Given the description of an element on the screen output the (x, y) to click on. 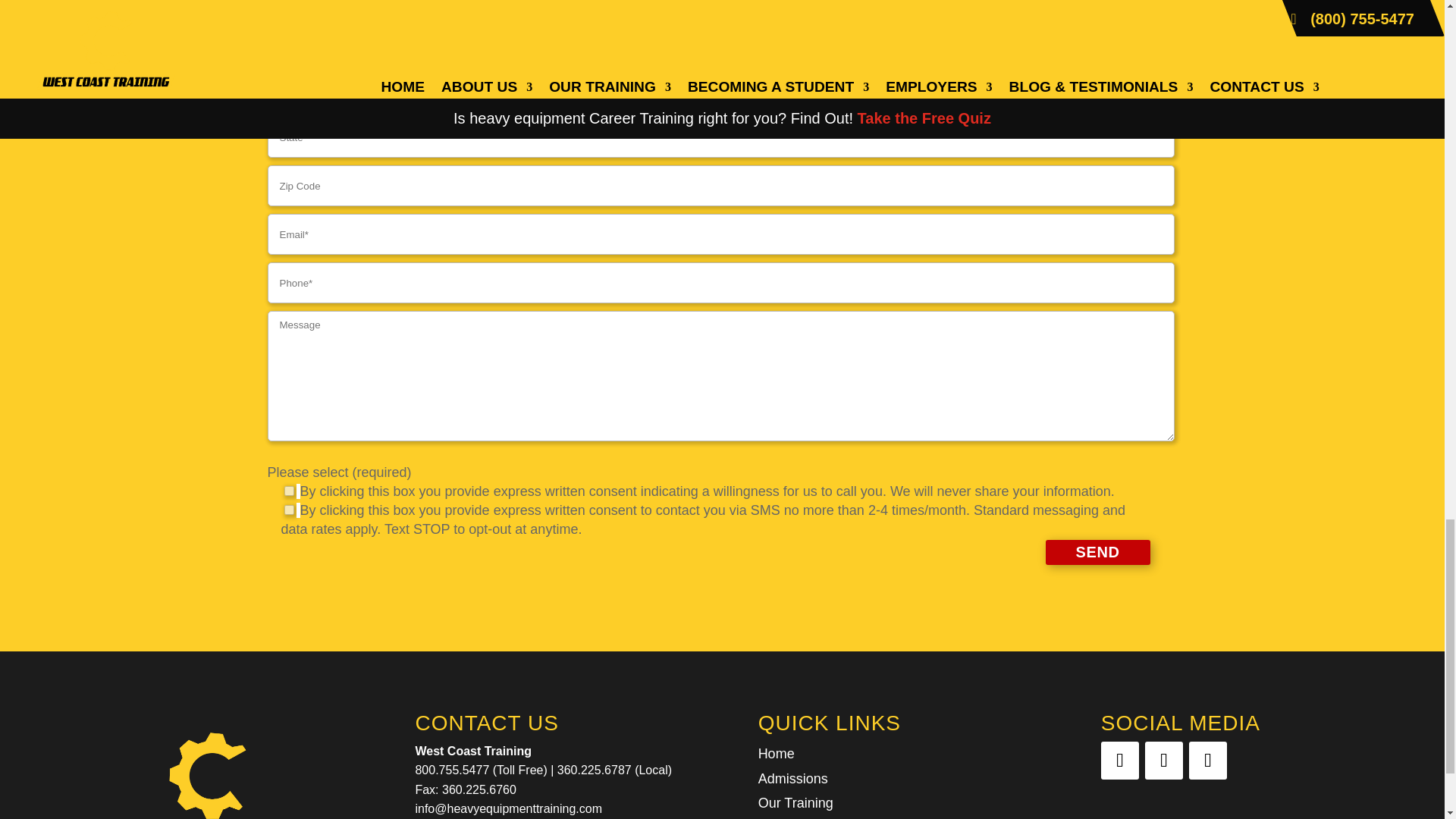
Follow on Facebook (1119, 760)
send (1097, 552)
Follow on Instagram (1208, 760)
logo (207, 765)
Follow on X (1163, 760)
